Given the description of an element on the screen output the (x, y) to click on. 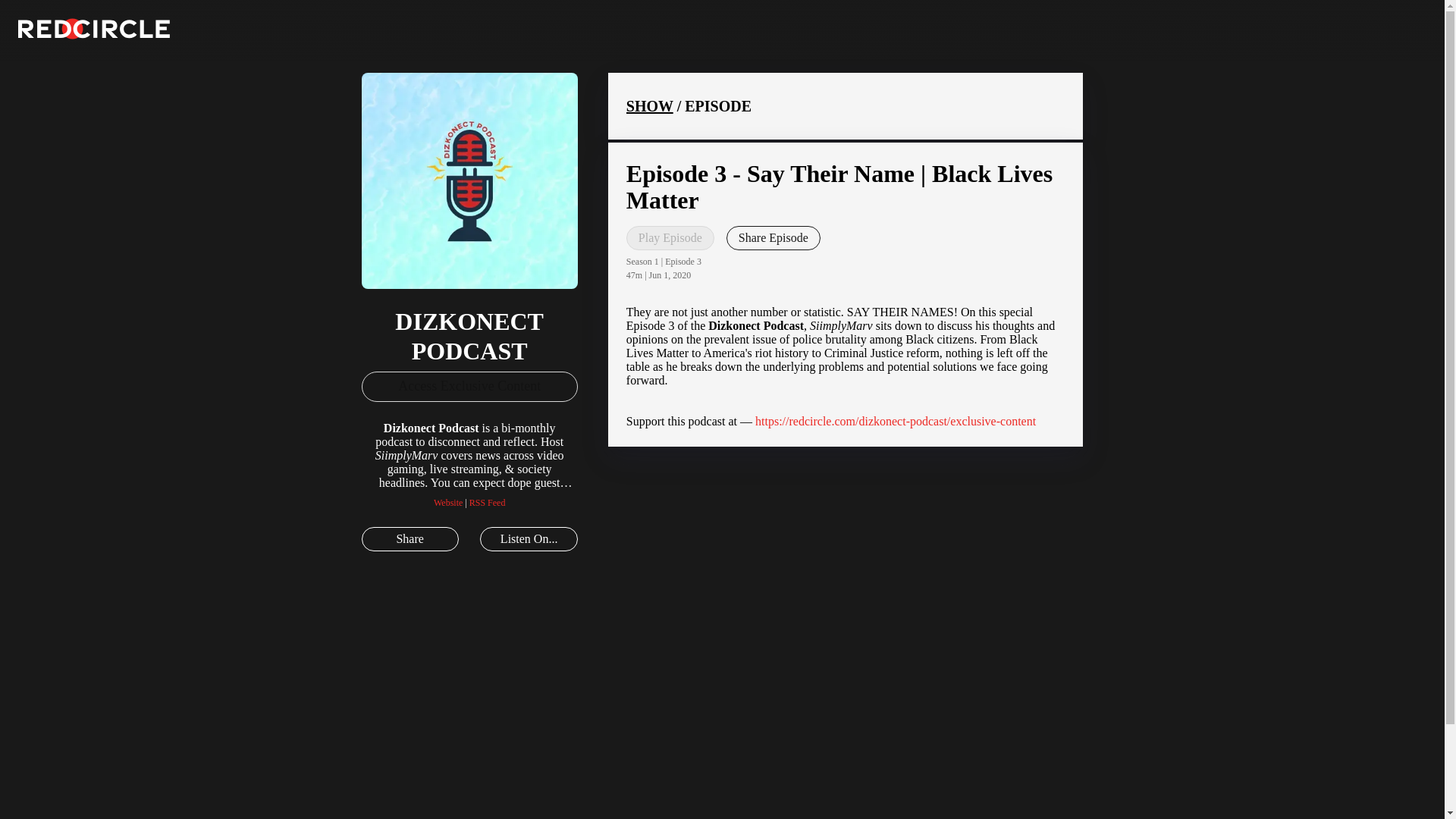
Listen On... (528, 539)
RSS Feed (486, 502)
SHOW (649, 105)
Website (448, 502)
Play Episode (670, 238)
Share Episode (773, 238)
Share (409, 539)
Access Exclusive Content (468, 386)
